Given the description of an element on the screen output the (x, y) to click on. 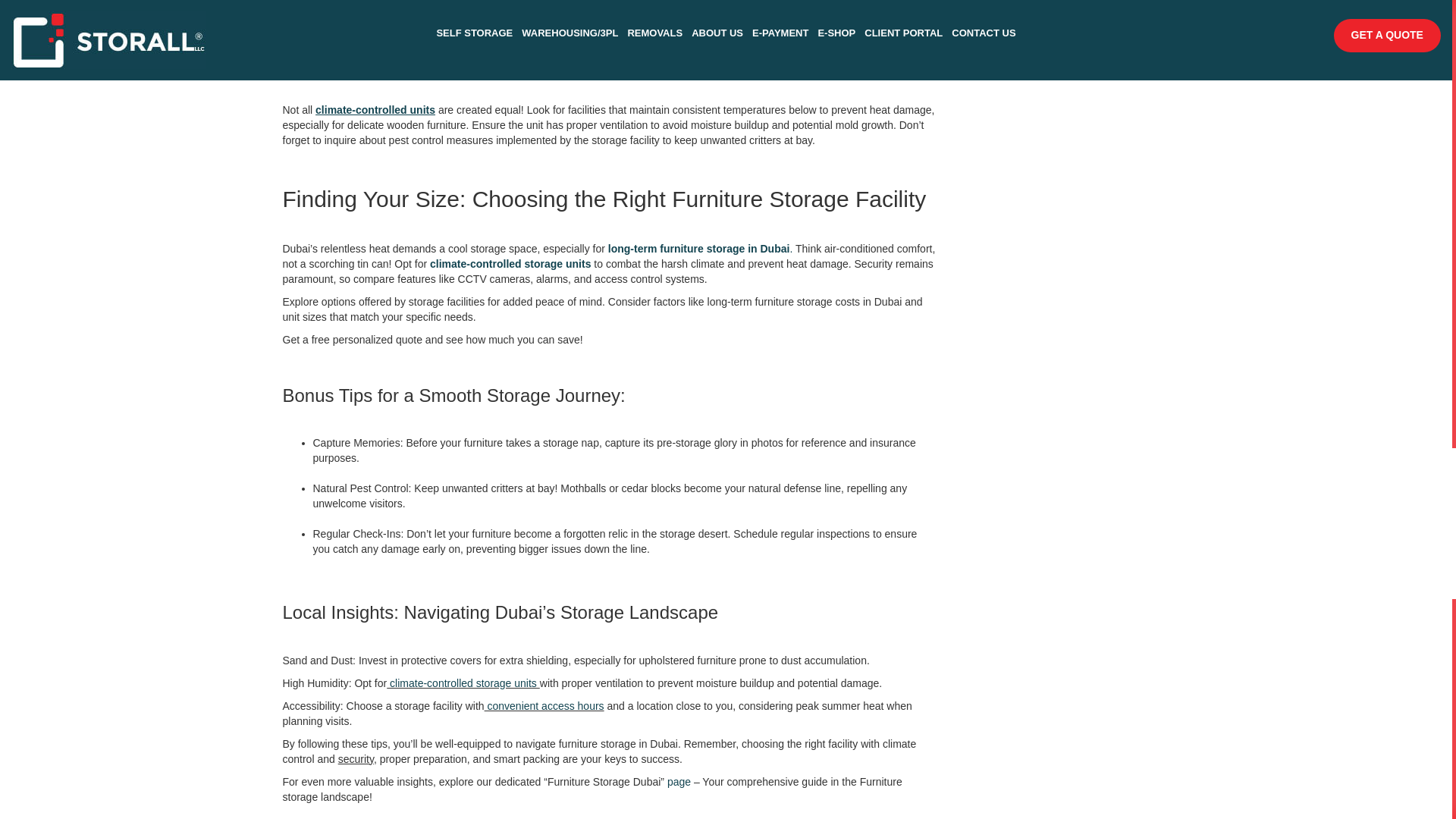
climate-controlled storage units (510, 263)
convenient access hours (544, 705)
climate-controlled units (375, 110)
long-term furniture storage in Dubai. (700, 248)
page (678, 781)
climate-controlled storage units (463, 683)
